Given the description of an element on the screen output the (x, y) to click on. 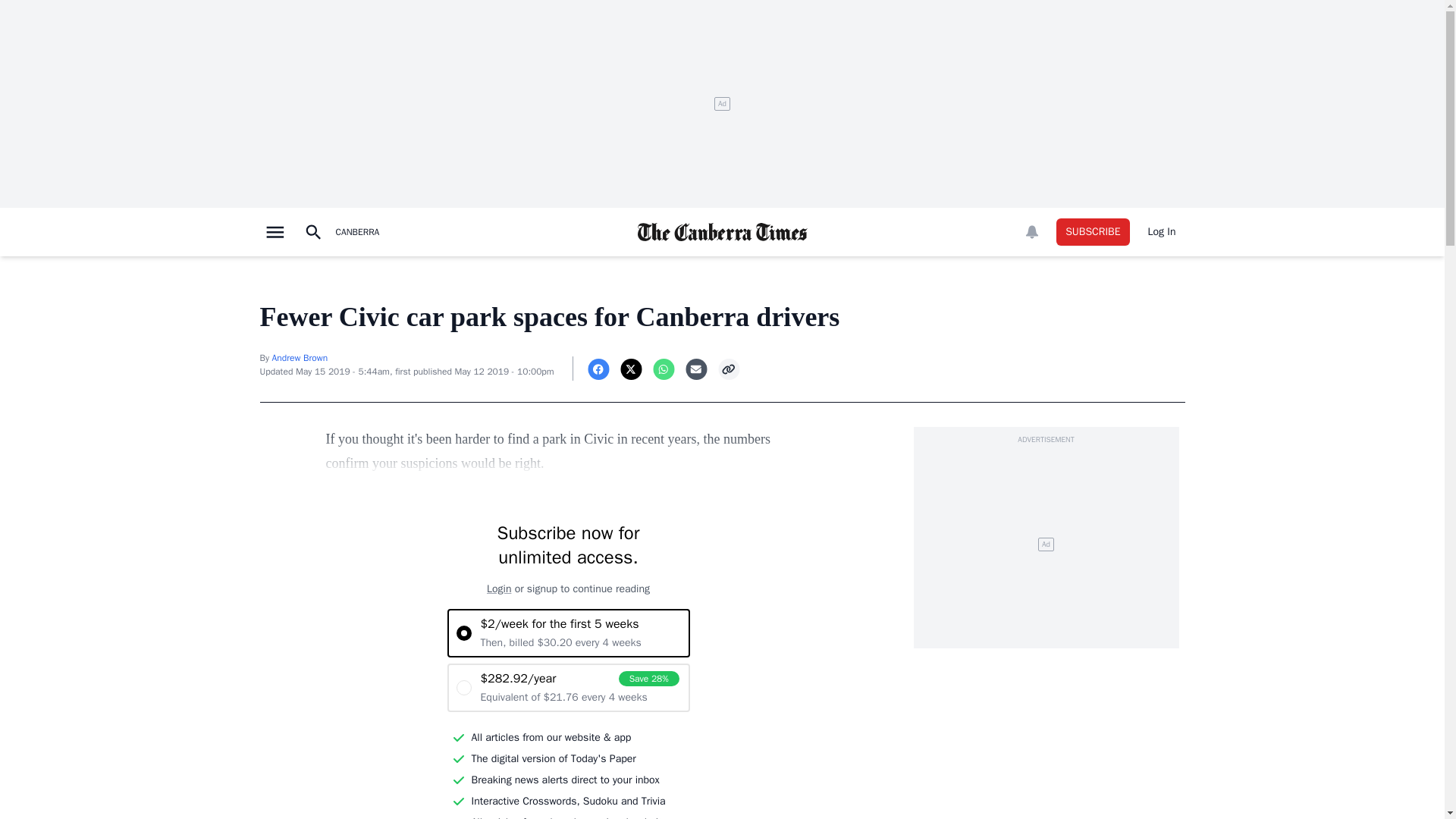
SUBSCRIBE (1093, 231)
Log In (1161, 231)
CANBERRA (357, 232)
